Given the description of an element on the screen output the (x, y) to click on. 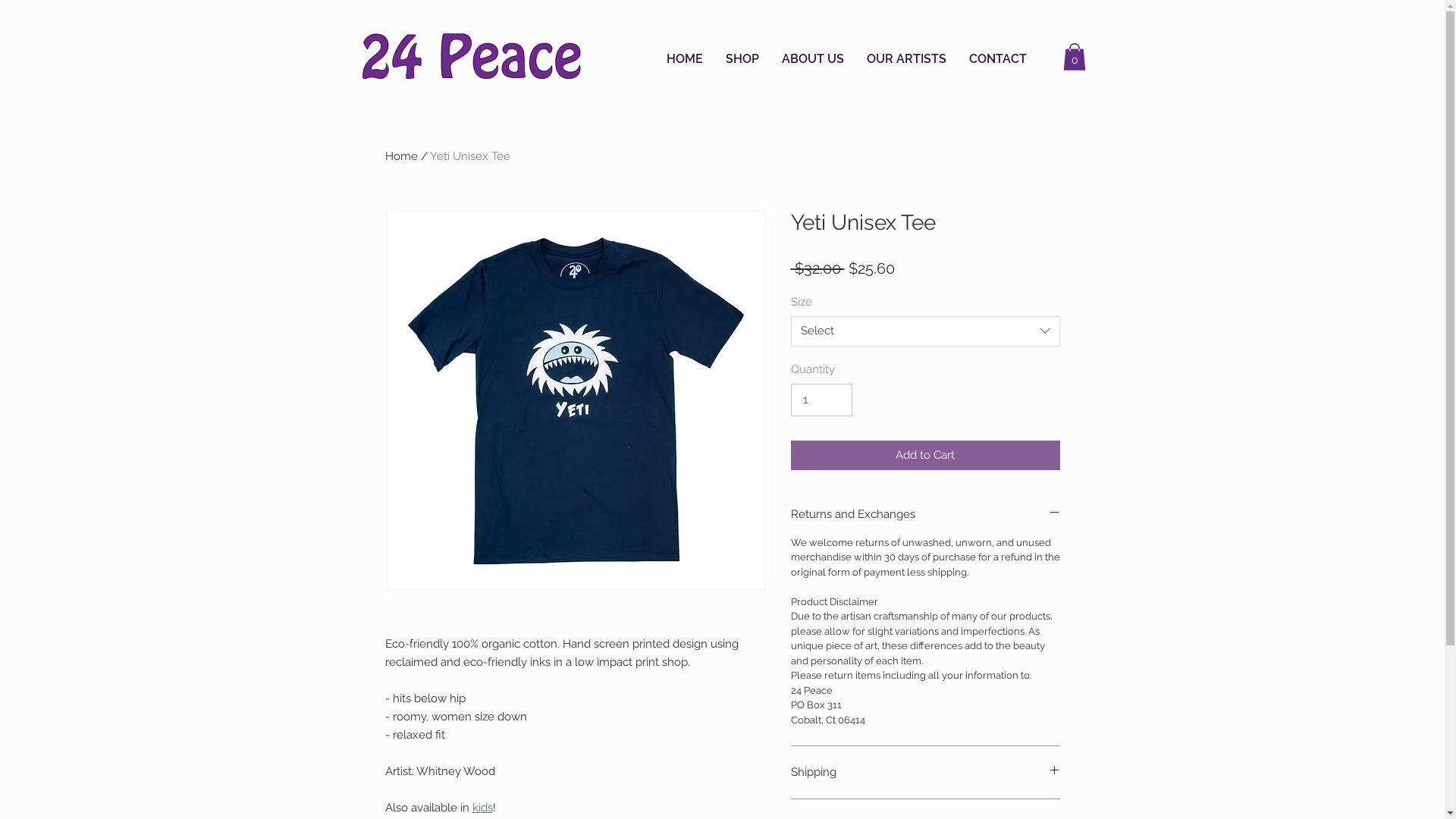
OUR ARTISTS Element type: text (906, 58)
kids Element type: text (481, 807)
Yeti Unisex Tee Element type: text (469, 156)
Add to Cart Element type: text (924, 455)
0 Element type: text (1074, 56)
Home Element type: text (401, 156)
Shipping Element type: text (924, 772)
HOME Element type: text (684, 58)
Returns and Exchanges Element type: text (924, 514)
Select Element type: text (924, 331)
ABOUT US Element type: text (812, 58)
CONTACT Element type: text (997, 58)
